Given the description of an element on the screen output the (x, y) to click on. 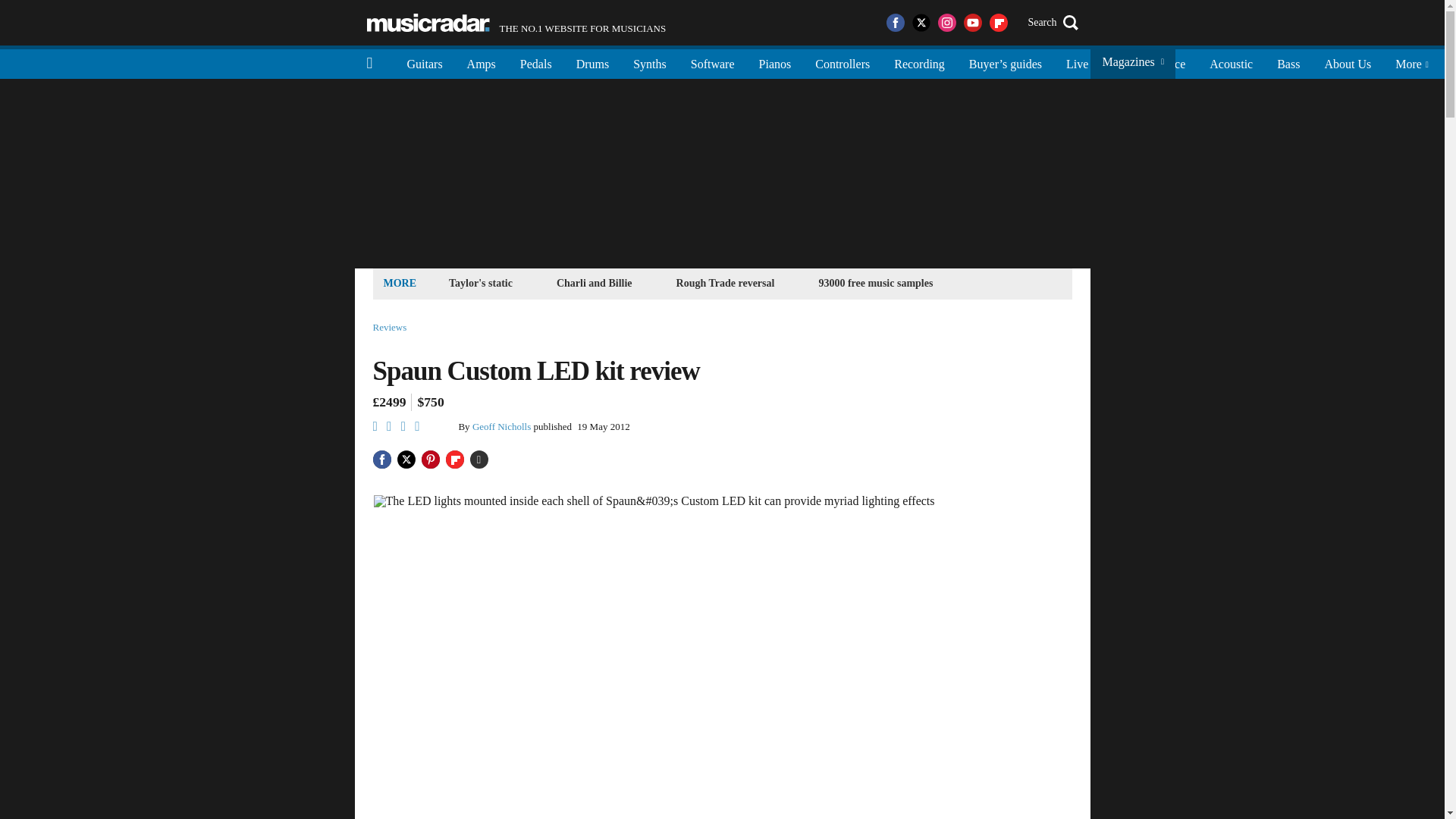
Synths (649, 61)
Charli and Billie (594, 282)
Recording (919, 61)
Pedals (536, 61)
93000 free music samples (874, 282)
About Us (1347, 61)
Reviews (389, 327)
Controllers (842, 61)
Live (1077, 61)
Taylor's static (481, 282)
